Given the description of an element on the screen output the (x, y) to click on. 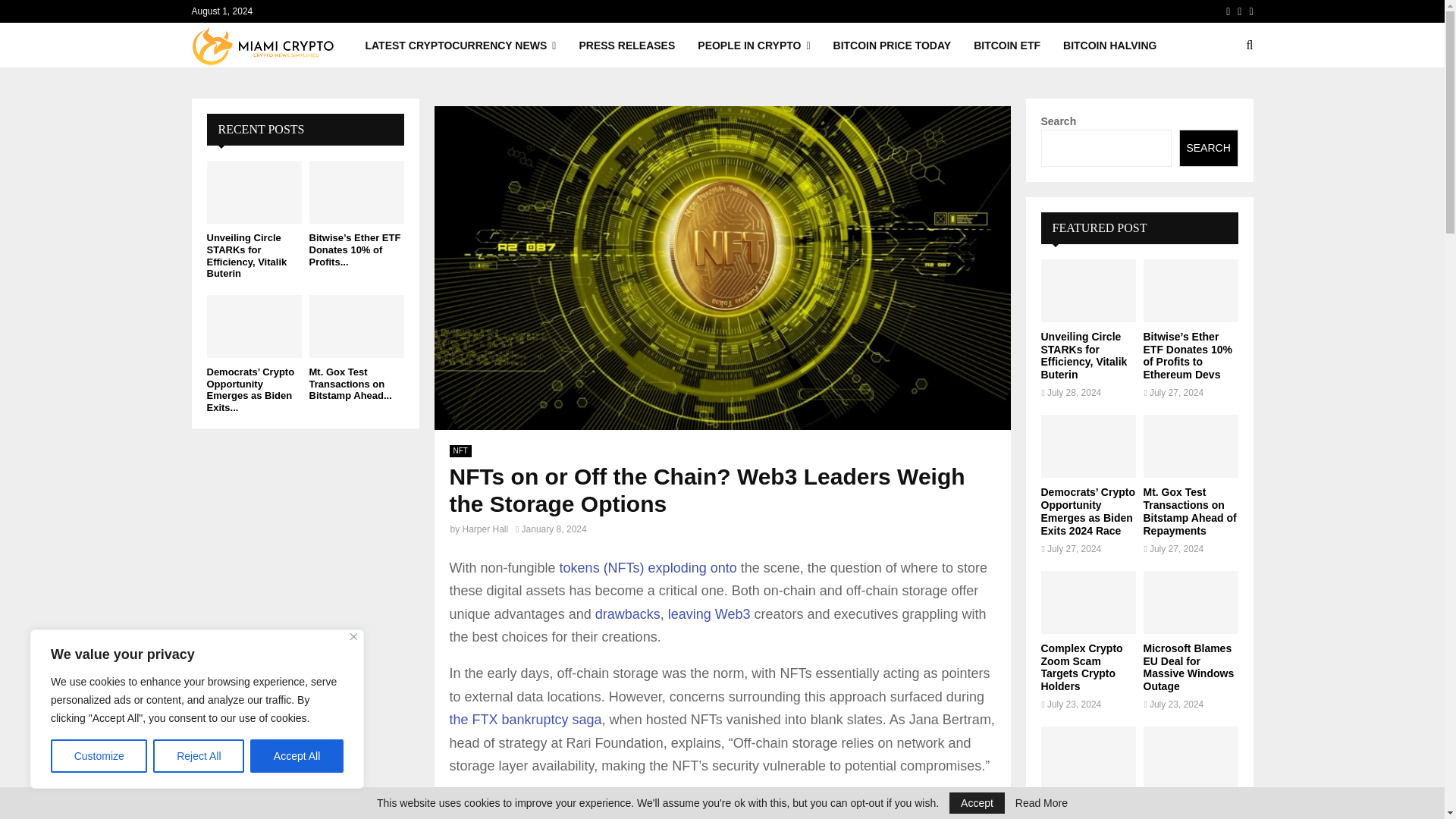
BITCOIN PRICE TODAY (892, 44)
BITCOIN ETF (1007, 44)
Accept All (296, 756)
Harper Hall (485, 529)
BITCOIN HALVING (1109, 44)
 Unveiling Circle STARKs for Efficiency, Vitalik Buterin  (246, 255)
Reject All (198, 756)
PRESS RELEASES (626, 44)
Customize (98, 756)
LATEST CRYPTOCURRENCY NEWS (460, 44)
NFT (459, 451)
Unveiling Circle STARKs for Efficiency, Vitalik Buterin (253, 191)
PEOPLE IN CRYPTO (753, 44)
